Given the description of an element on the screen output the (x, y) to click on. 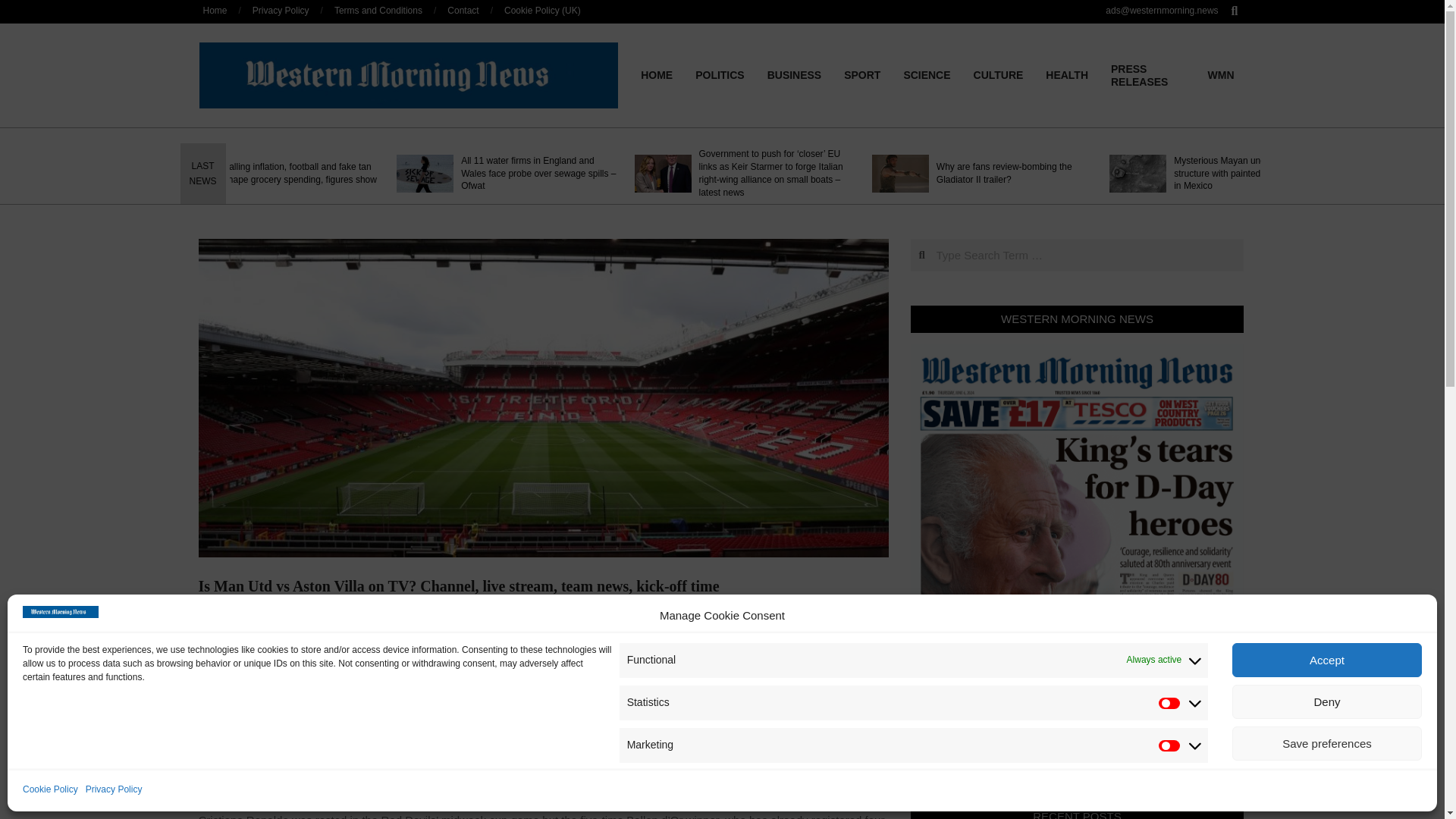
SPORT (861, 74)
Terms and Conditions (378, 9)
HEALTH (1066, 74)
BUSINESS (793, 74)
Home (215, 9)
Accept (1326, 659)
POLITICS (719, 74)
Search (21, 8)
Contact (462, 9)
Save preferences (1326, 743)
PRESS RELEASES (1147, 75)
Cookie Policy (50, 790)
Deny (1326, 701)
